Given the description of an element on the screen output the (x, y) to click on. 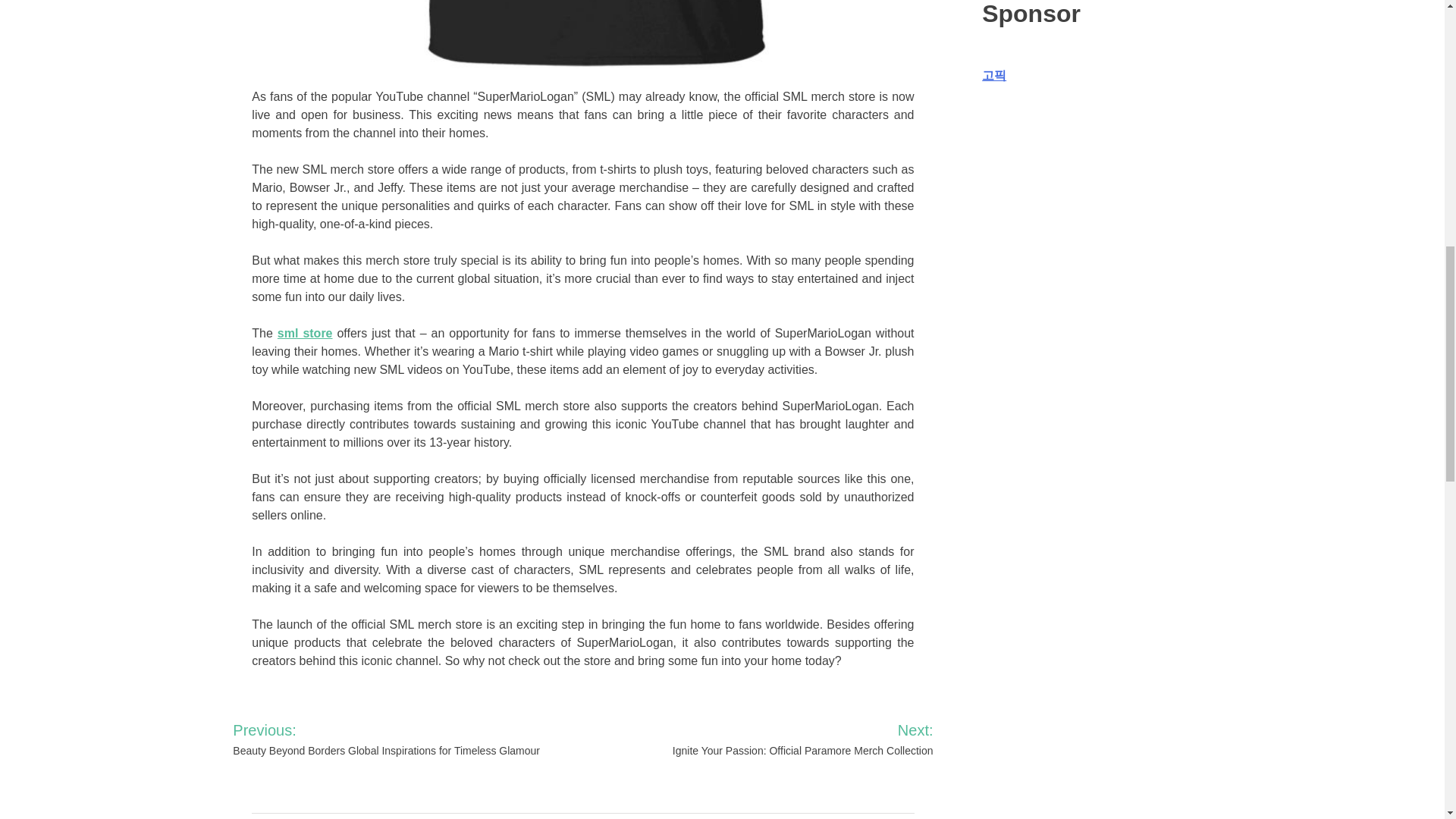
sml store (305, 332)
